Given the description of an element on the screen output the (x, y) to click on. 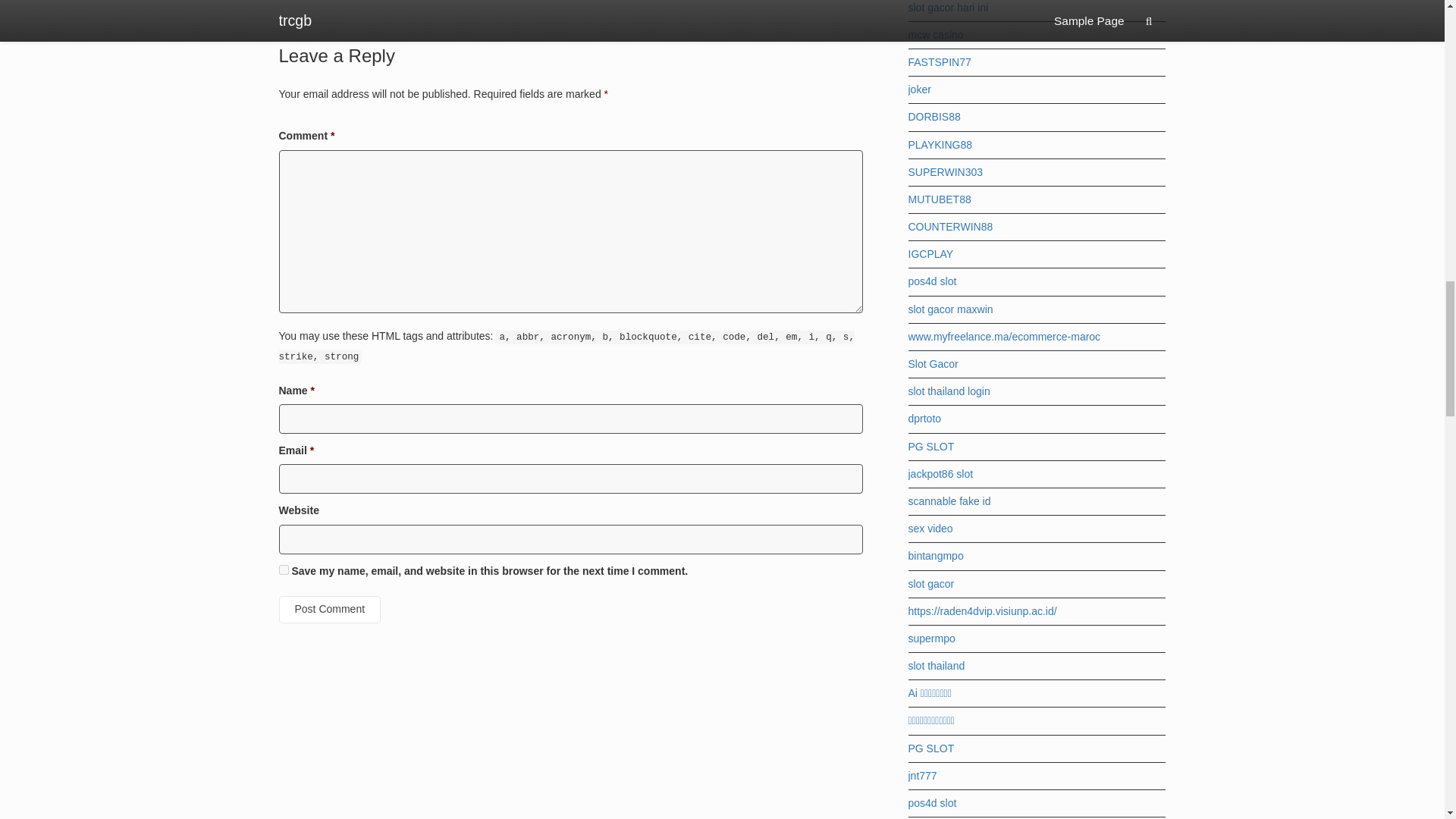
yes (283, 569)
Post Comment (330, 609)
Post Comment (330, 609)
